Given the description of an element on the screen output the (x, y) to click on. 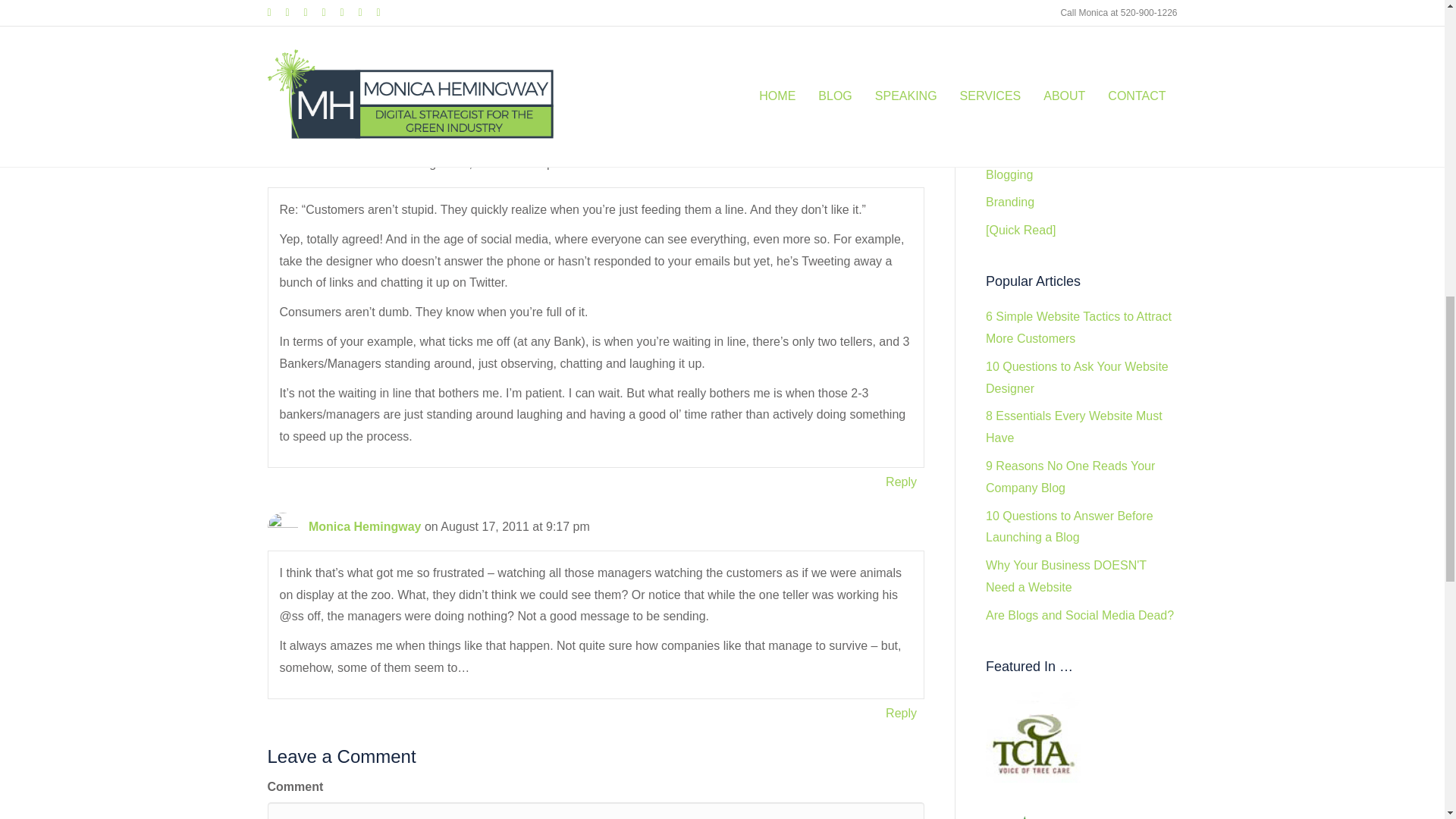
Reply (901, 481)
messaging (580, 37)
Blogging (1008, 174)
MAH Blog (348, 37)
Strategy (405, 37)
Email Marketing (1029, 62)
Websites (1010, 90)
Reply (901, 712)
credibility (519, 37)
Ricardo Bueno (351, 163)
Strategy (1007, 118)
Monica Hemingway (364, 526)
Social Media (1020, 146)
